Given the description of an element on the screen output the (x, y) to click on. 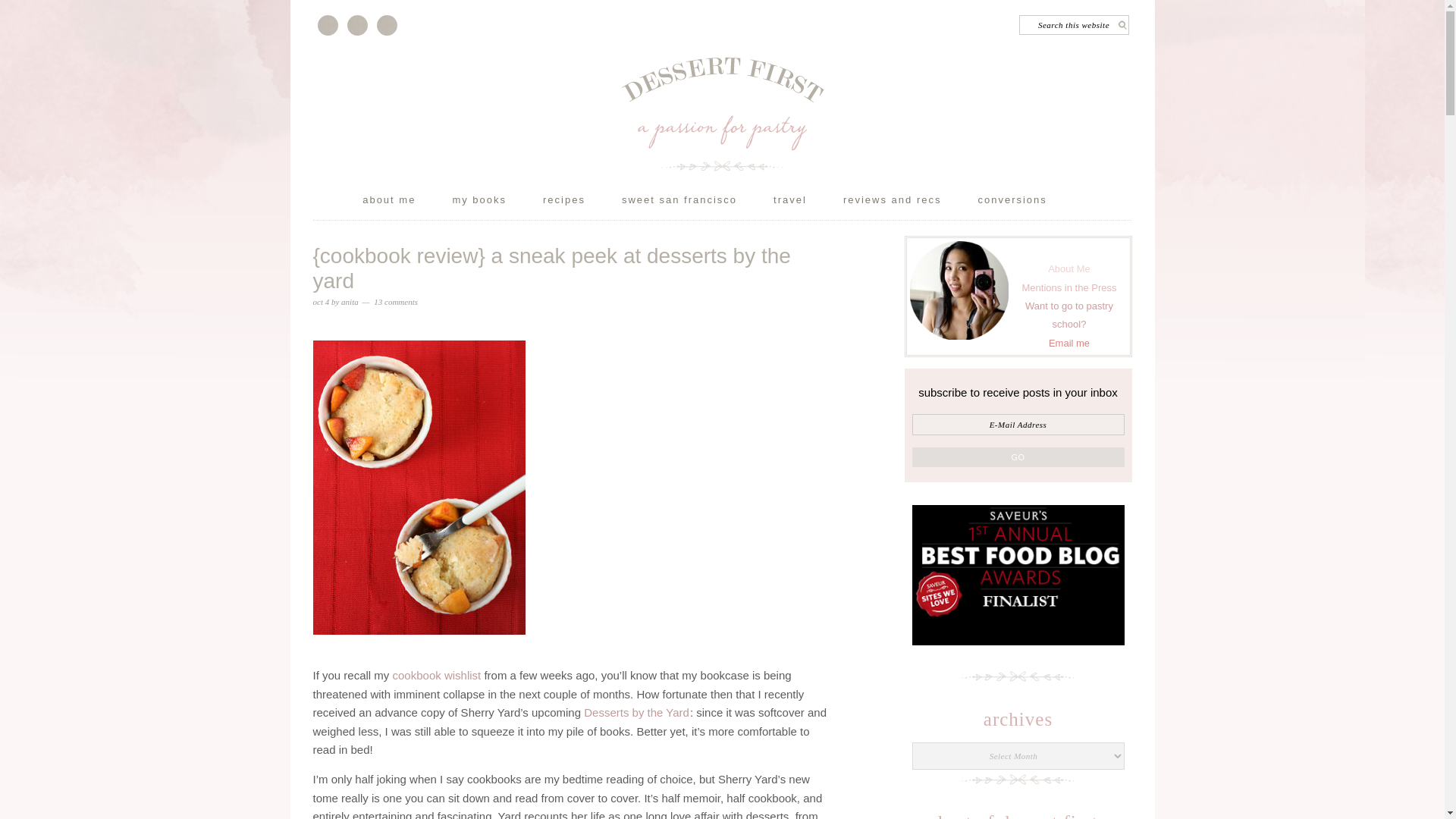
Search (1132, 18)
Go (1017, 456)
Search (1132, 18)
anita (349, 301)
recipes (581, 203)
reviews and recs (909, 203)
Search (1132, 18)
conversions (1028, 203)
13 comments (395, 301)
travel (807, 203)
